Given the description of an element on the screen output the (x, y) to click on. 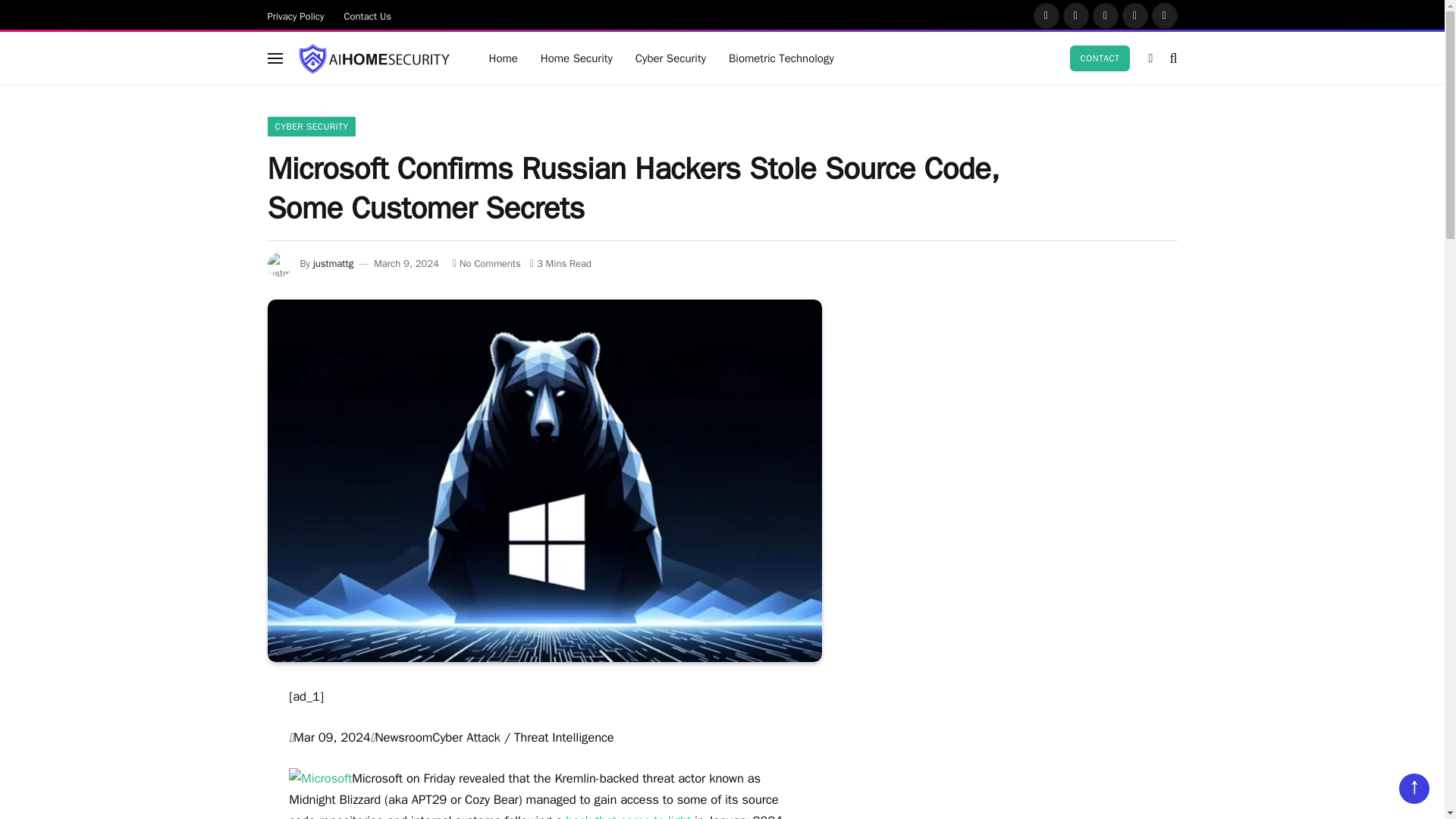
Vimeo (1164, 15)
Twitter (1075, 15)
Contact Us (367, 15)
Instagram (1105, 15)
CYBER SECURITY (310, 126)
Posts by justmattg (333, 263)
Switch to Dark Design - easier on eyes. (1149, 57)
CONTACT (1100, 58)
Privacy Policy (295, 15)
justmattg (333, 263)
No Comments (486, 263)
Biometric Technology (781, 57)
Facebook (1046, 15)
Home (503, 57)
